Given the description of an element on the screen output the (x, y) to click on. 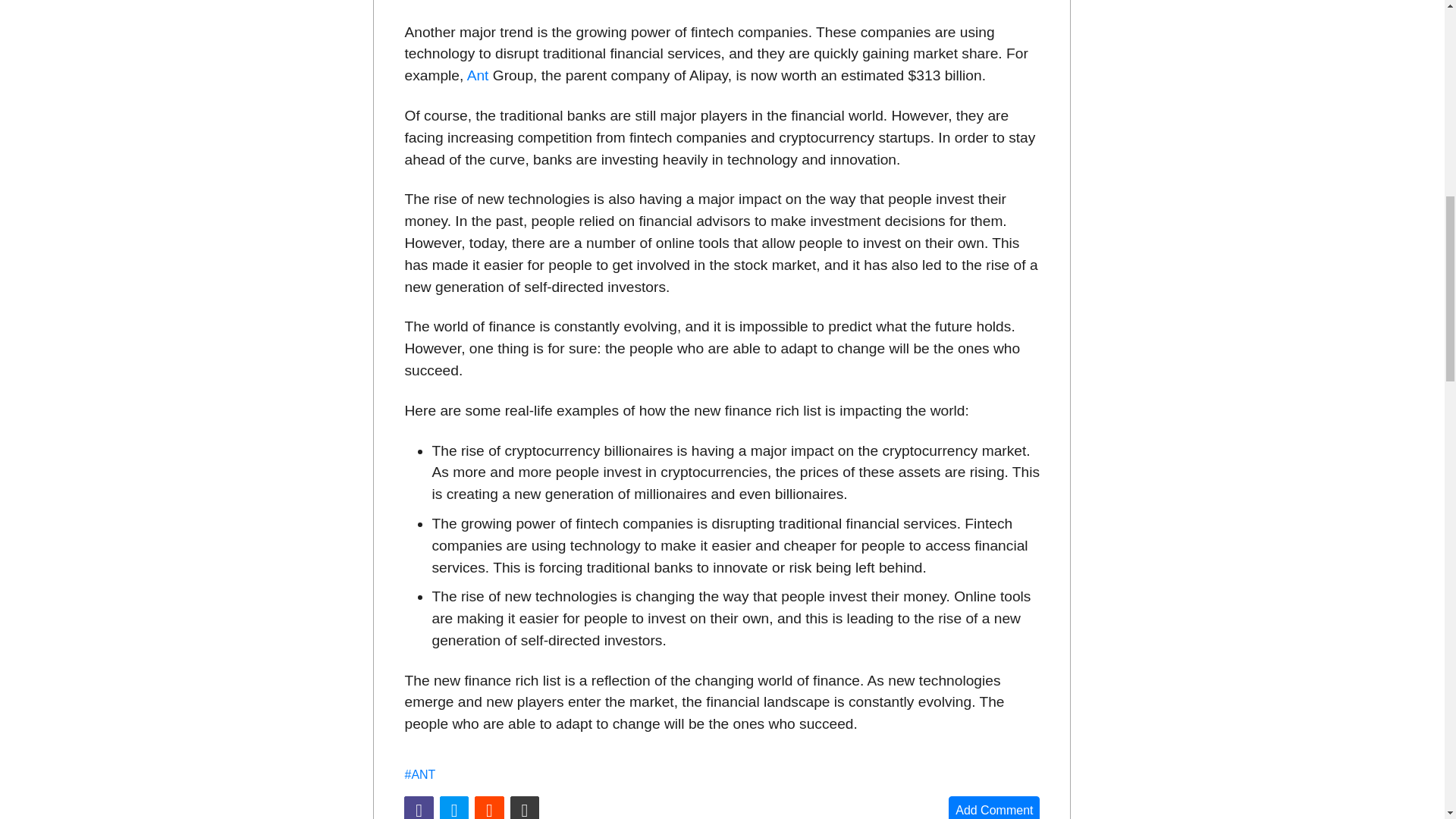
Ant (478, 75)
Add Comment (994, 807)
